Given the description of an element on the screen output the (x, y) to click on. 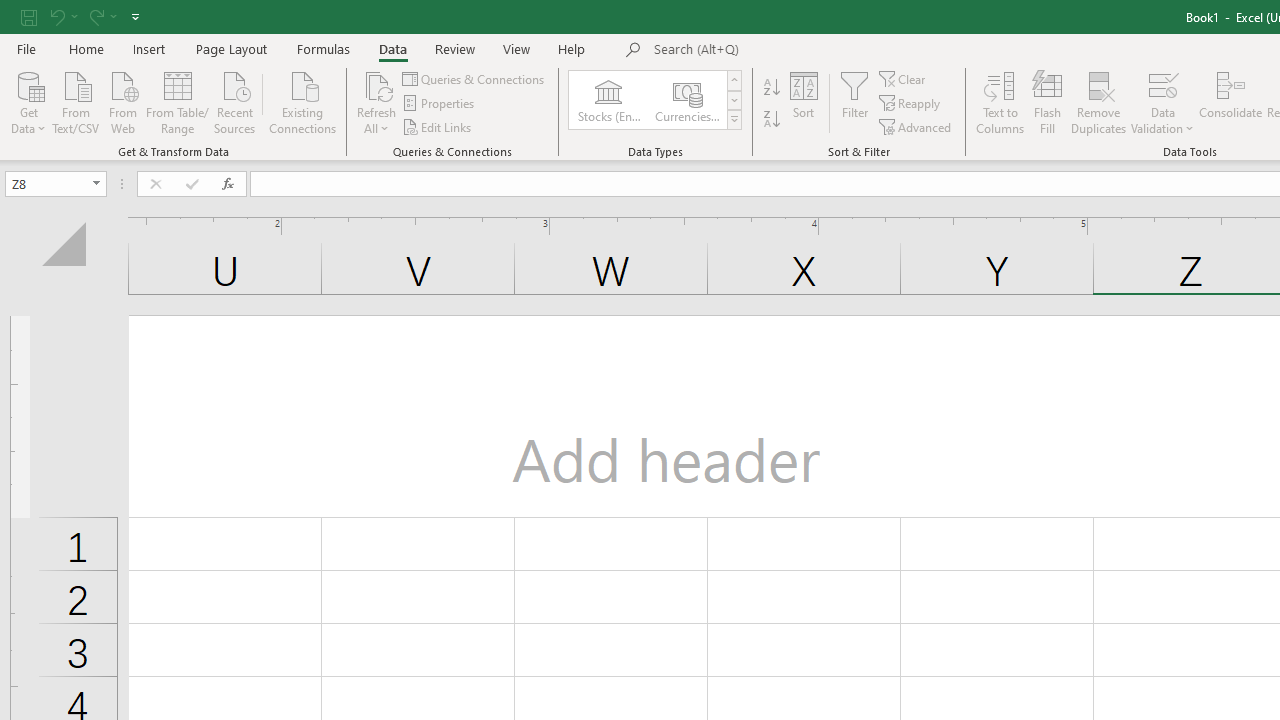
Refresh All (376, 84)
Class: NetUIImage (734, 119)
Undo (62, 15)
Name Box (56, 183)
Properties (440, 103)
Data Types (734, 120)
More Options (1162, 121)
Open (96, 183)
Data (392, 48)
From Table/Range (177, 101)
Queries & Connections (474, 78)
Quick Access Toolbar (82, 16)
Insert (149, 48)
Edit Links (438, 126)
Row up (734, 79)
